Given the description of an element on the screen output the (x, y) to click on. 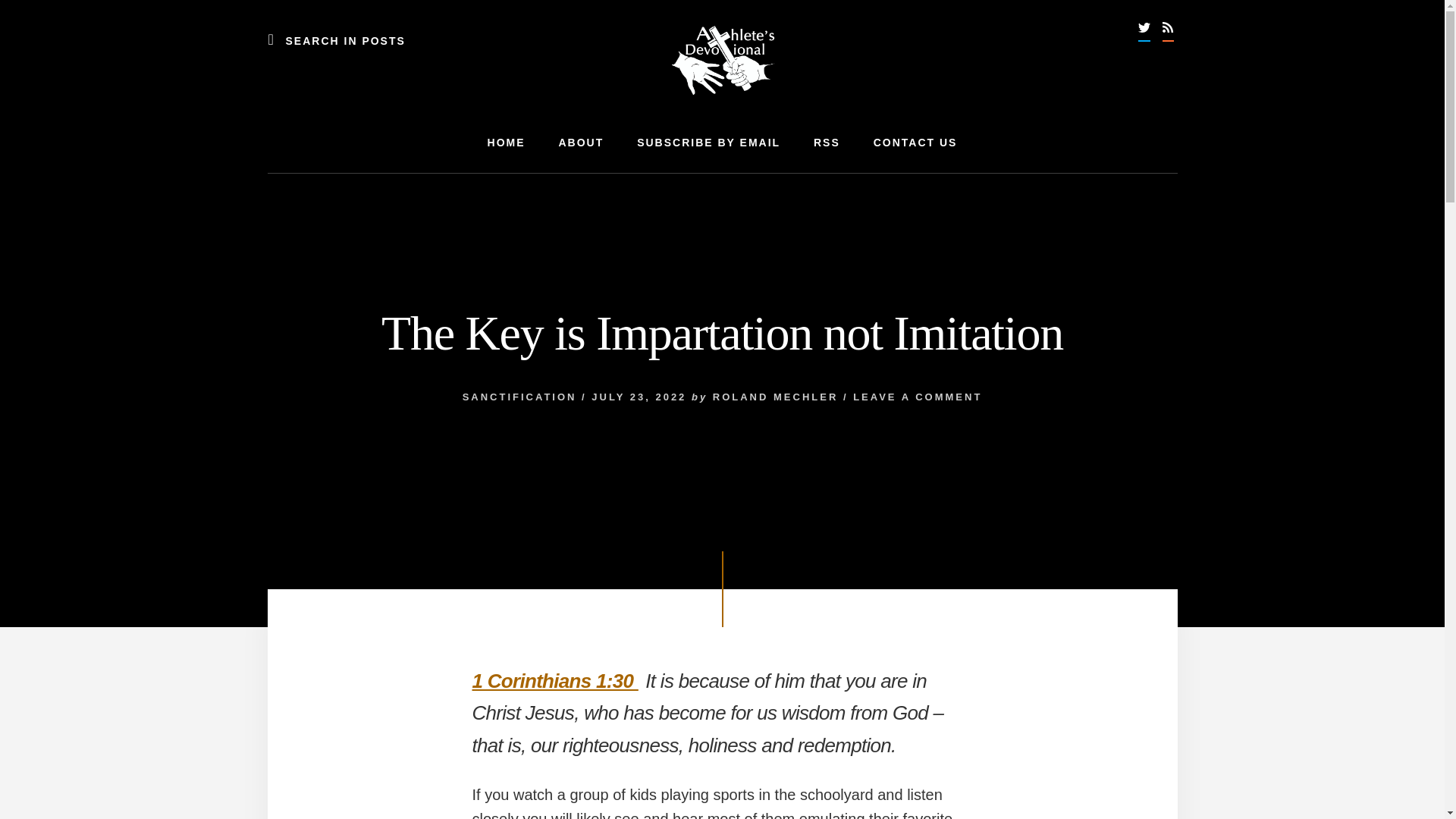
ABOUT (580, 142)
SUBSCRIBE BY EMAIL (707, 142)
ROLAND MECHLER (775, 396)
SANCTIFICATION (519, 396)
1 Corinthians 1:30 (554, 680)
CONTACT US (915, 142)
